Given the description of an element on the screen output the (x, y) to click on. 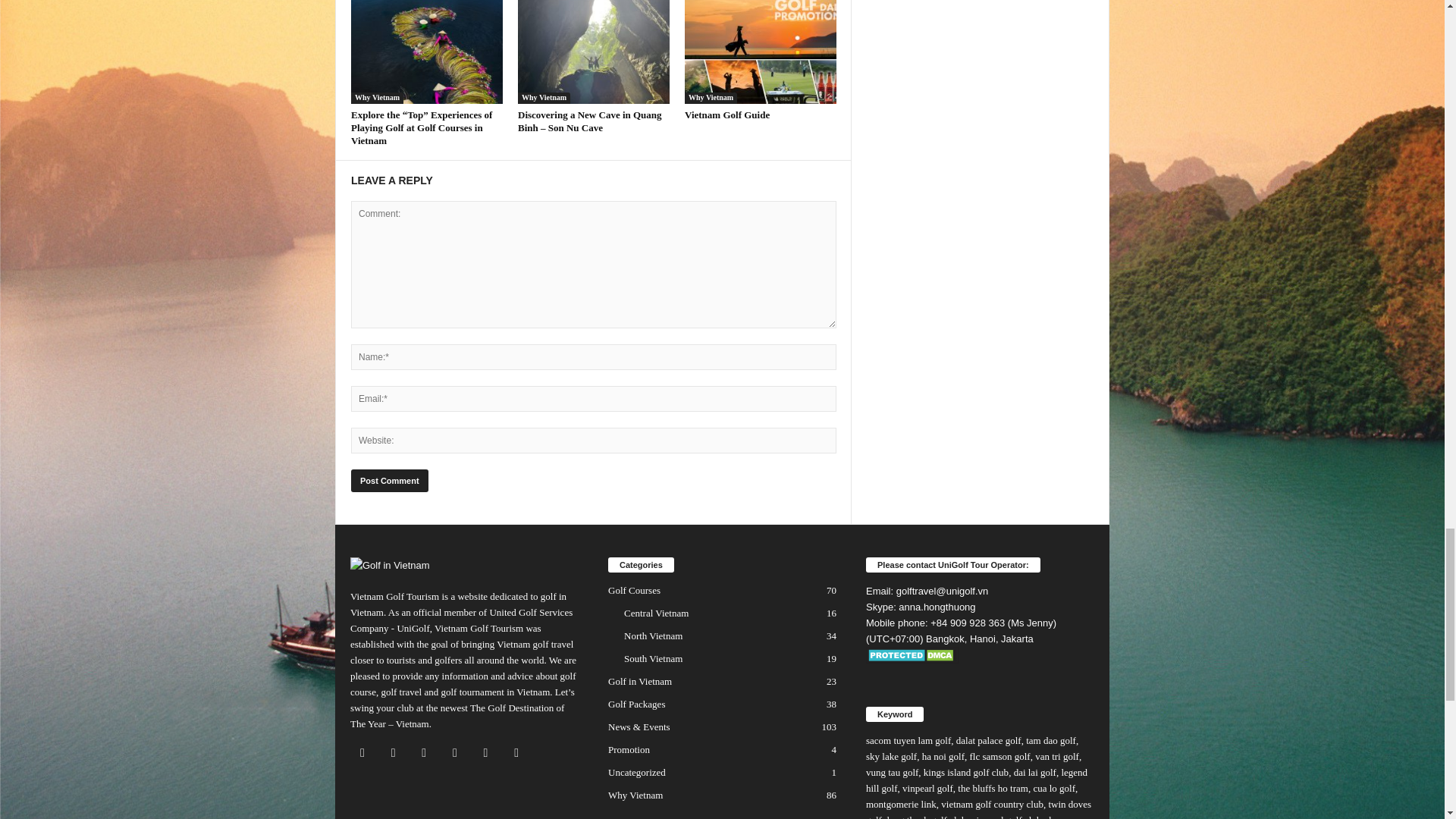
Post Comment (389, 480)
